Given the description of an element on the screen output the (x, y) to click on. 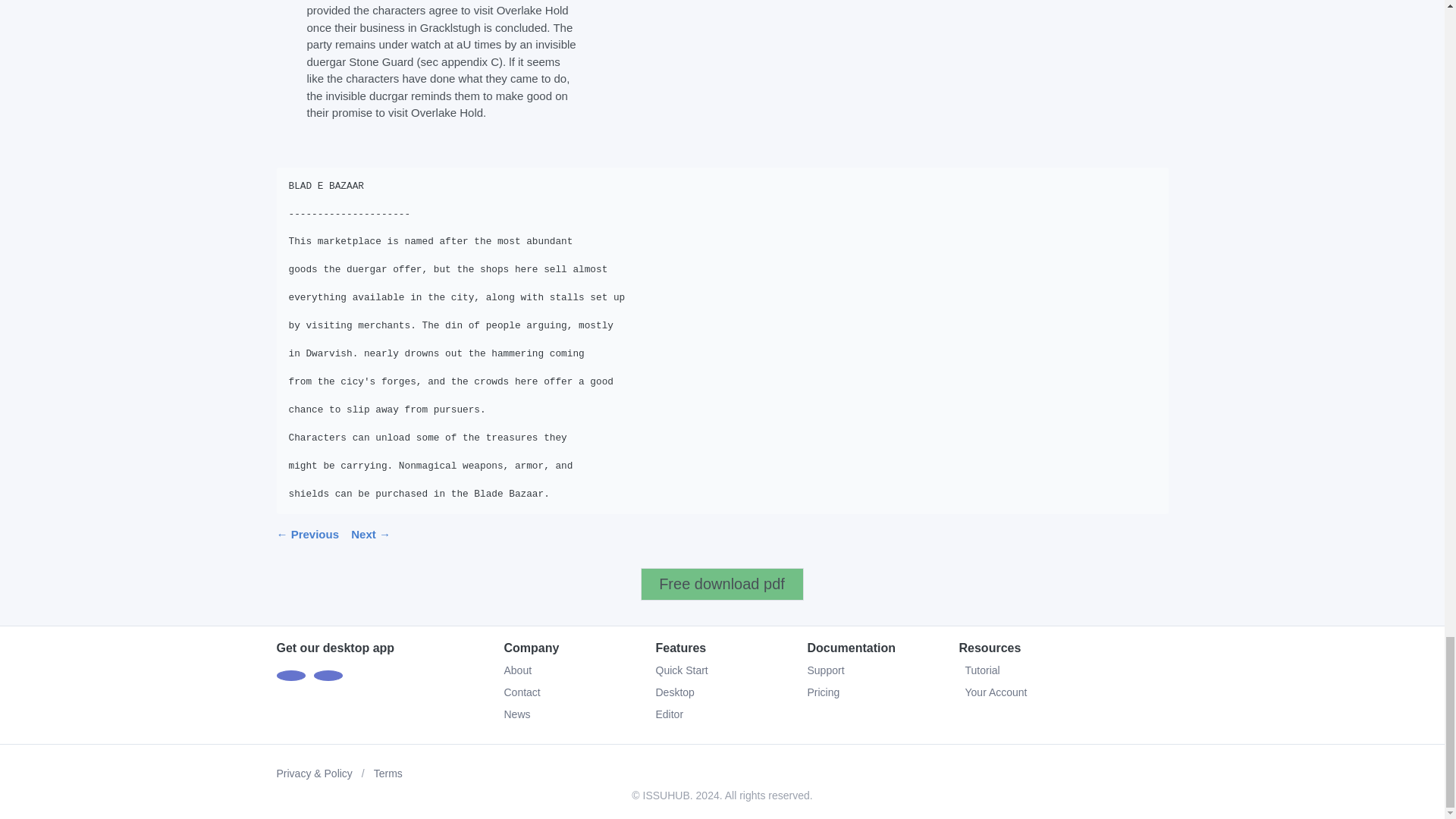
Editor (668, 714)
Desktop (674, 692)
Quick Start (681, 670)
Free download pdf (721, 584)
Tutorial (1062, 670)
Contact (521, 692)
About (517, 670)
News (516, 714)
Support (825, 670)
Your Account (1062, 692)
Free download pdf (721, 584)
Terms (388, 773)
Pricing (823, 692)
